Given the description of an element on the screen output the (x, y) to click on. 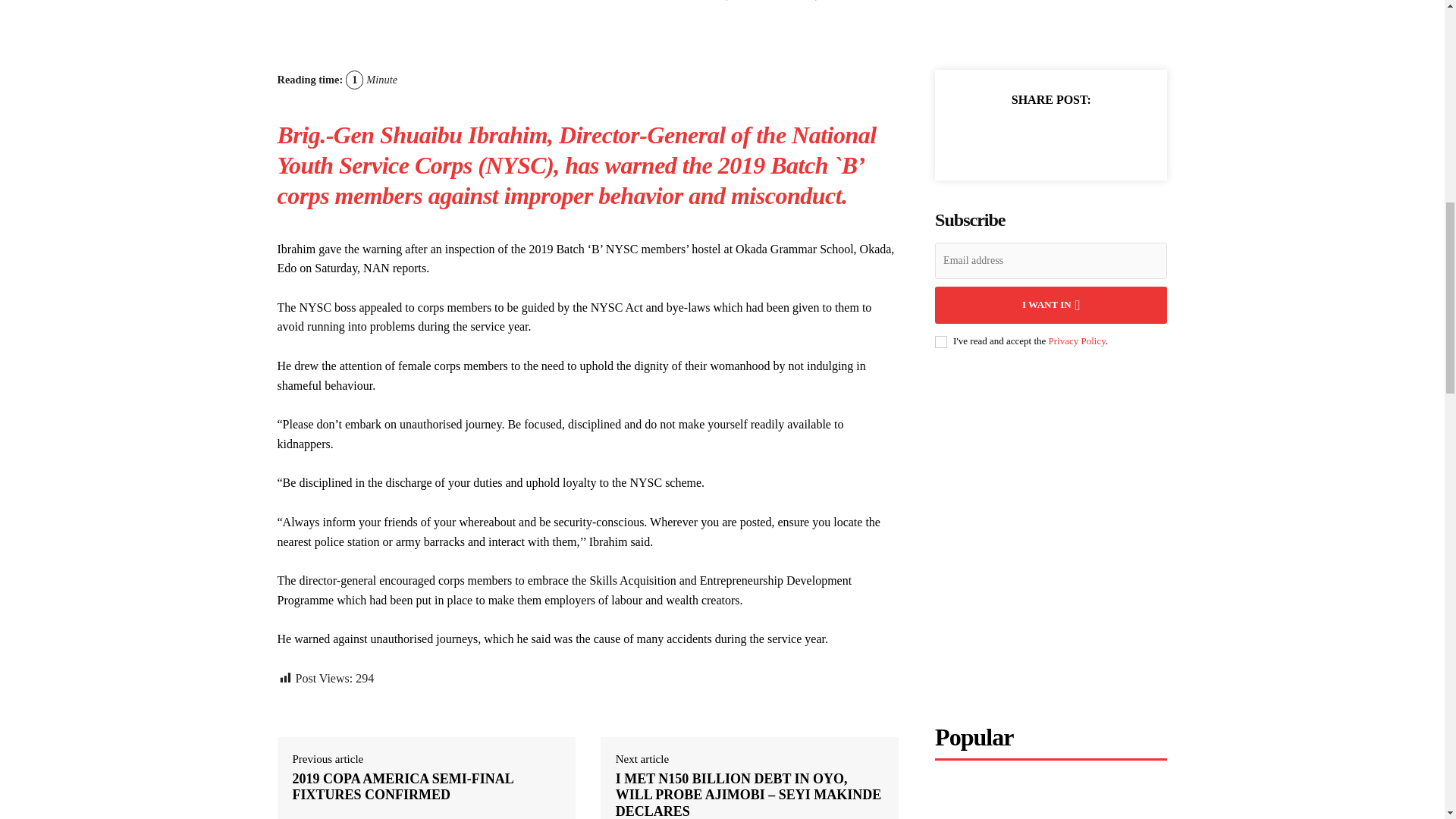
2019 COPA AMERICA SEMI-FINAL FIXTURES CONFIRMED (426, 786)
